Given the description of an element on the screen output the (x, y) to click on. 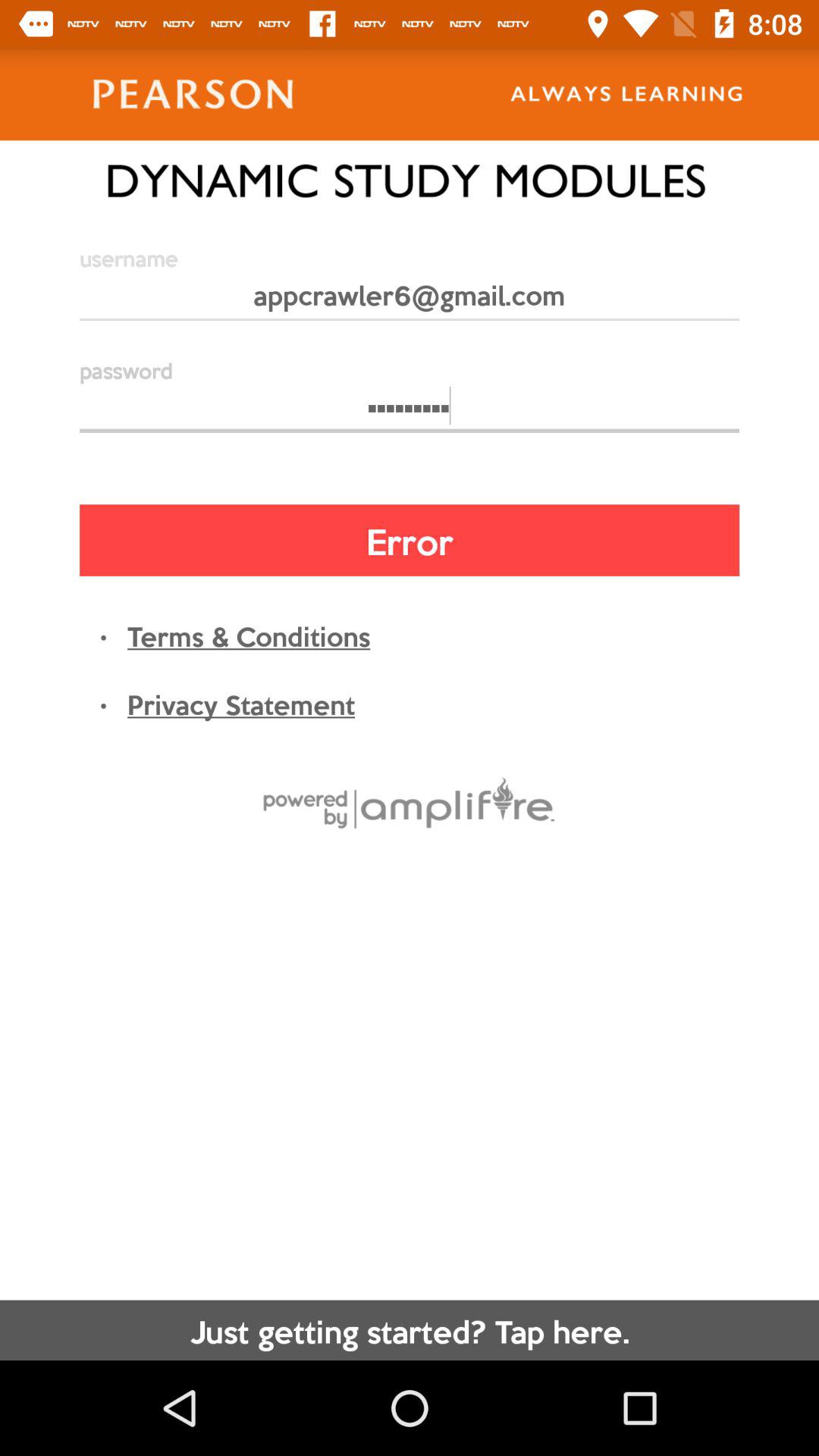
flip to the just getting started icon (409, 1330)
